Given the description of an element on the screen output the (x, y) to click on. 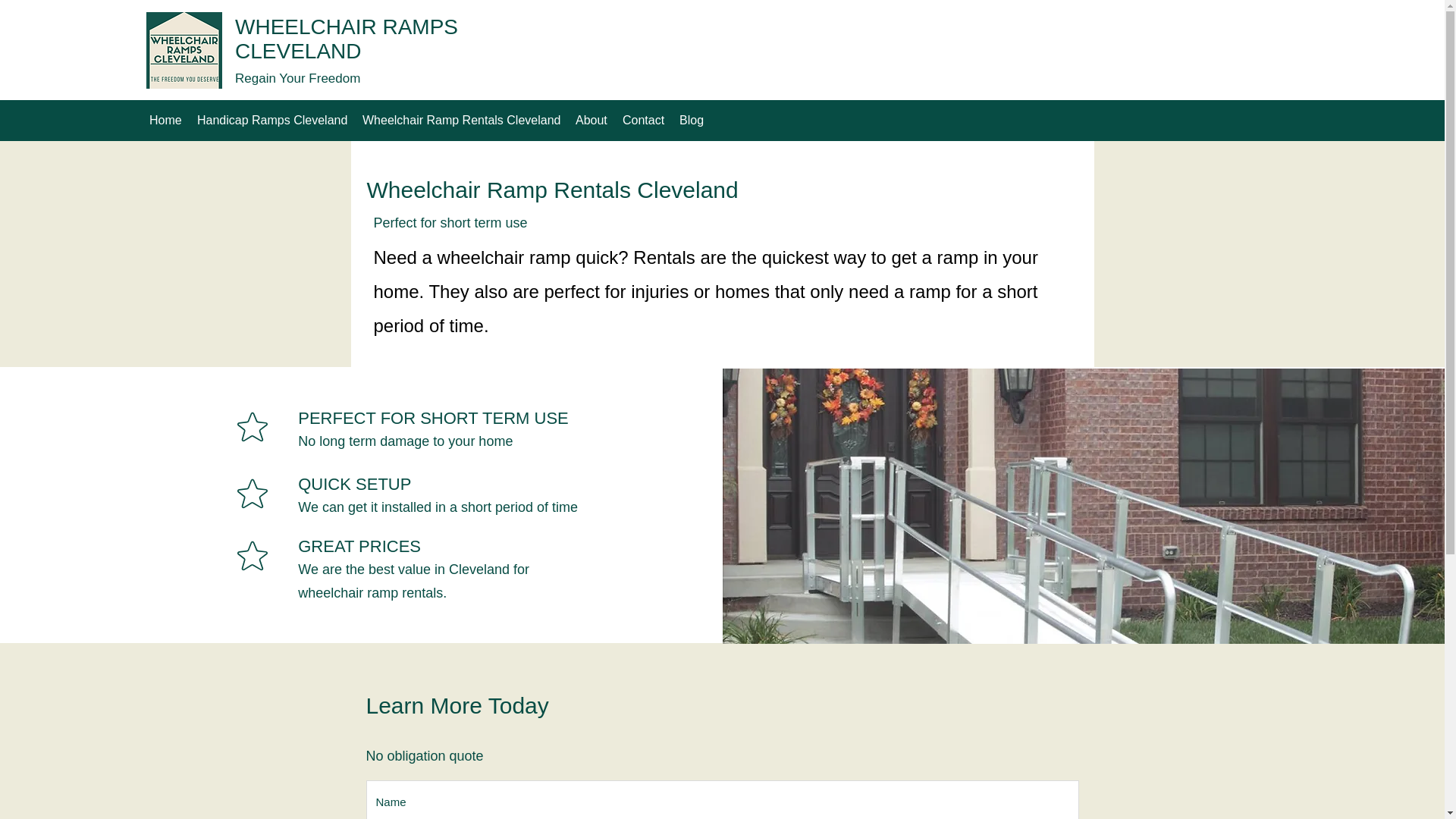
About (590, 119)
Blog (691, 119)
Contact (642, 119)
Home (165, 119)
Wheelchair Ramp Rentals Cleveland (461, 119)
Handicap Ramps Cleveland (272, 119)
WHEELCHAIR RAMPS CLEVELAND (346, 39)
